Given the description of an element on the screen output the (x, y) to click on. 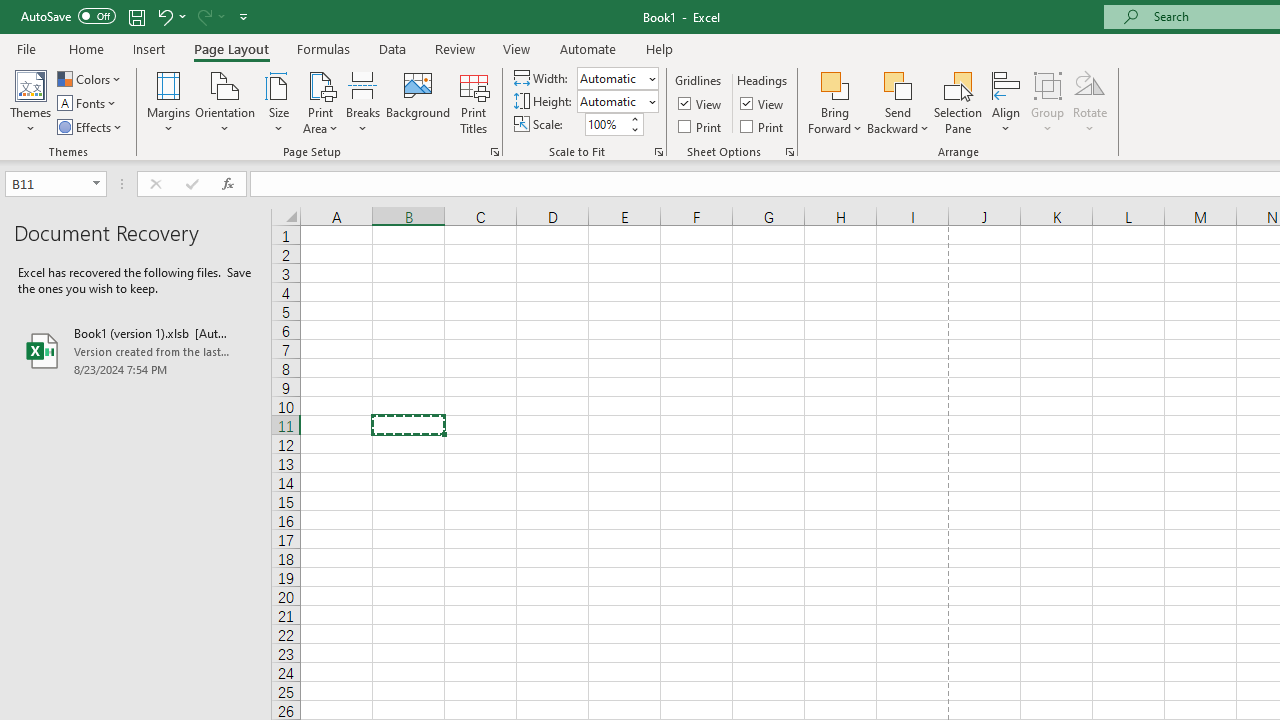
Themes (30, 102)
Background... (418, 102)
Size (278, 102)
Scale (605, 124)
Send Backward (898, 102)
Height (618, 101)
Print (763, 126)
Width (611, 78)
